Given the description of an element on the screen output the (x, y) to click on. 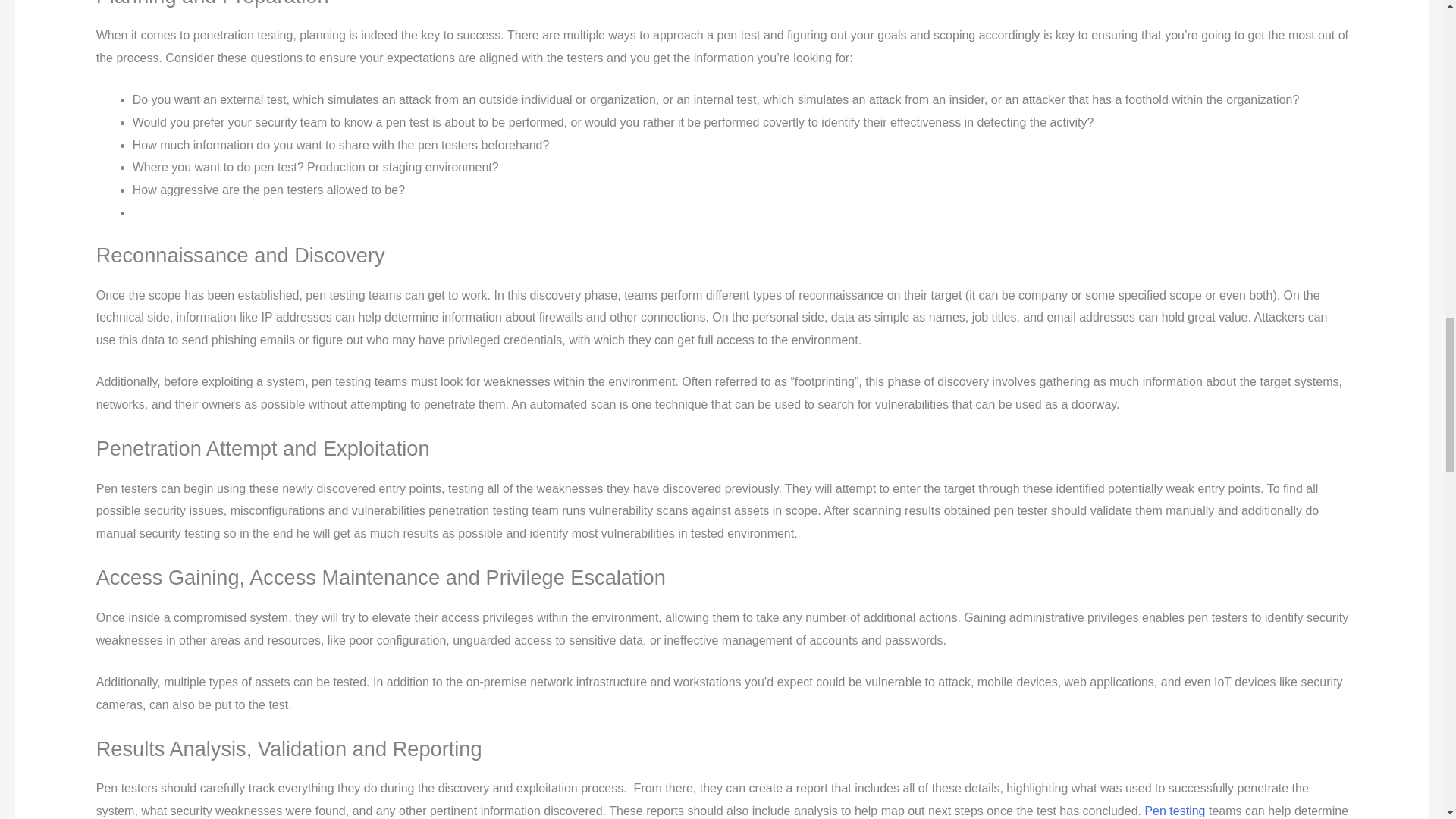
Pen testing (1174, 810)
